Given the description of an element on the screen output the (x, y) to click on. 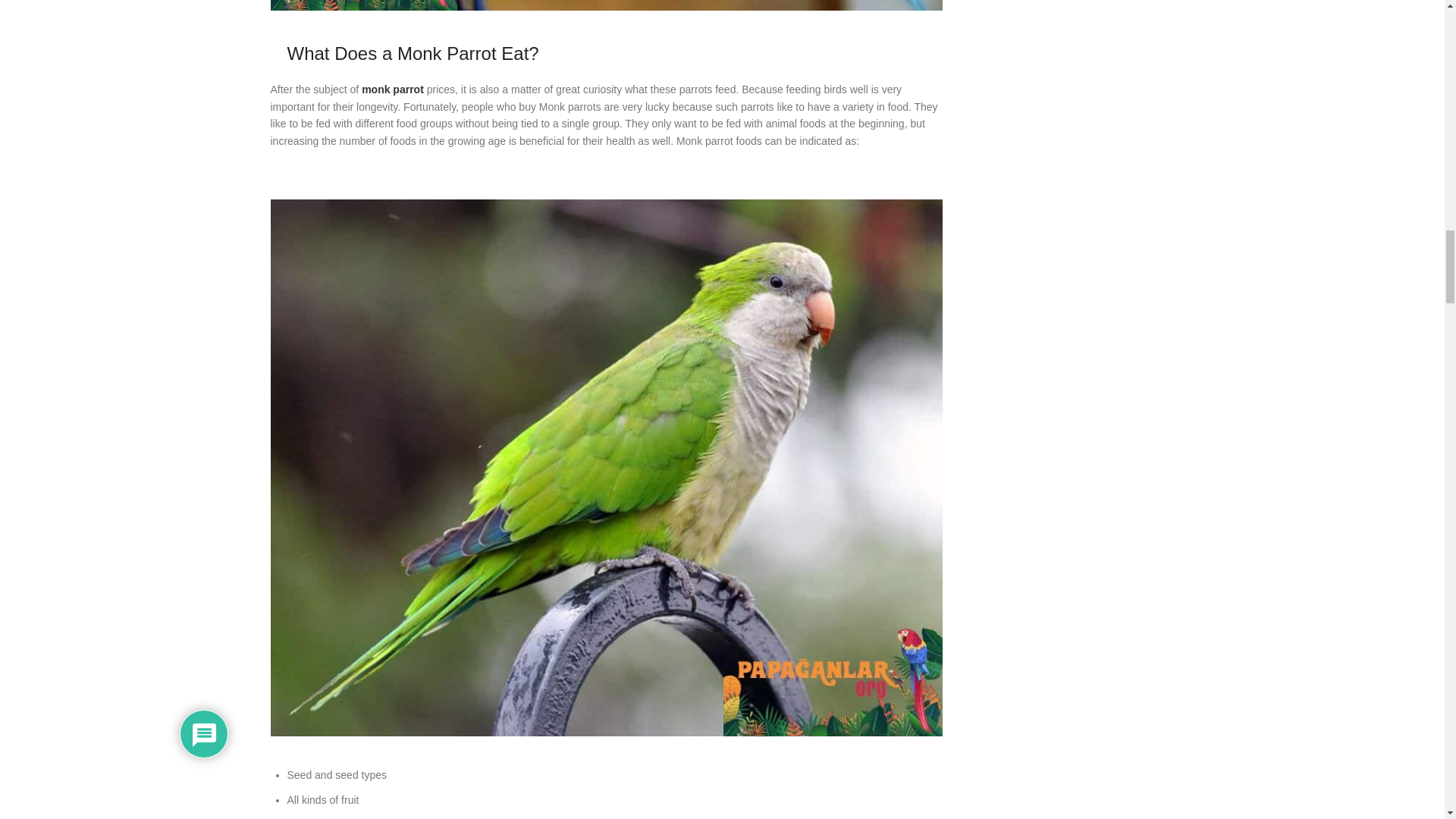
monk parrot (392, 89)
